Given the description of an element on the screen output the (x, y) to click on. 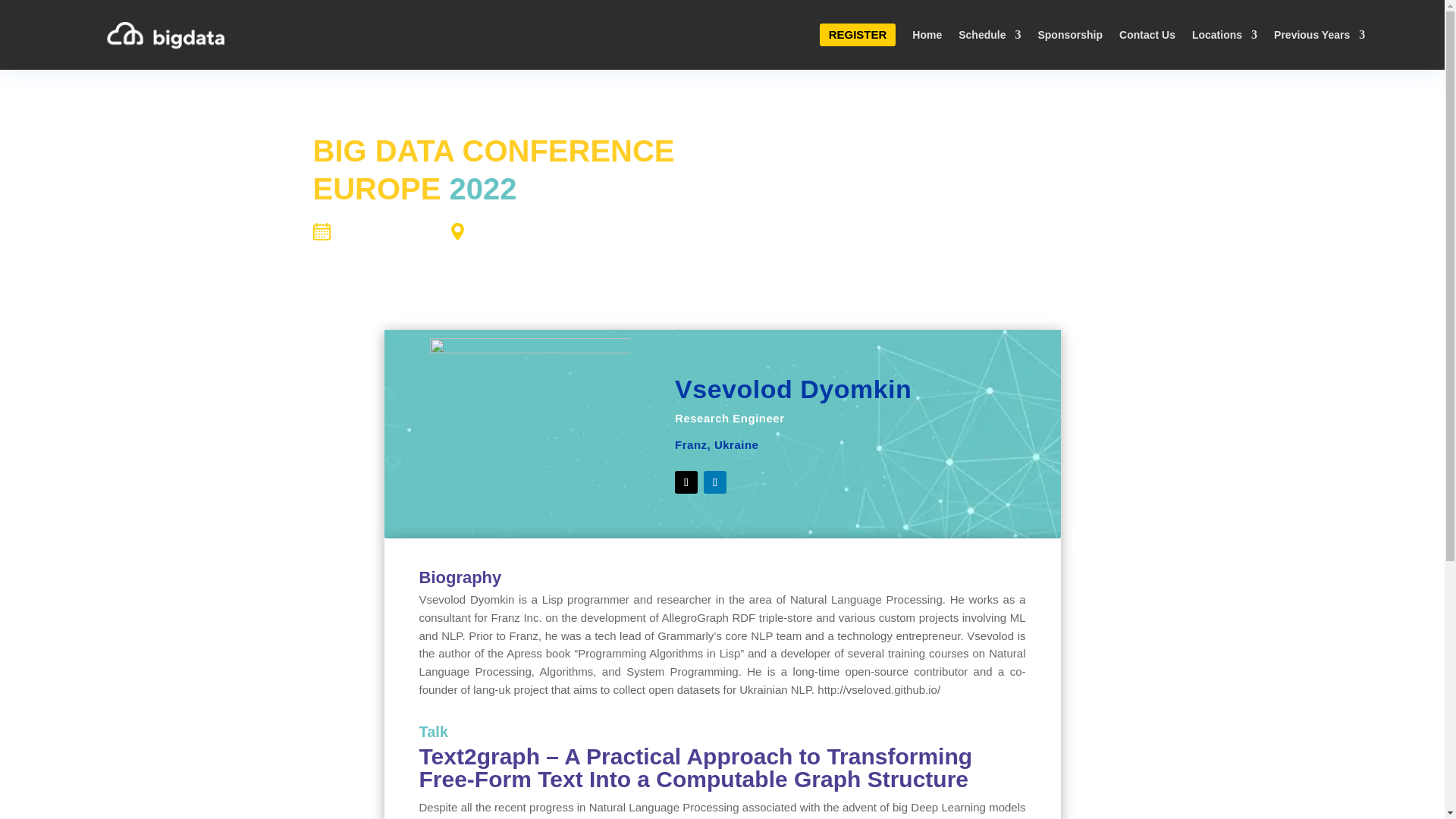
Schedule (989, 34)
Follow on LinkedIn (714, 481)
Locations (1224, 34)
Previous Years (1319, 34)
Follow on X (686, 481)
REGISTER (857, 34)
Sponsorship (1069, 34)
Contact Us (1146, 34)
Home (927, 34)
